Given the description of an element on the screen output the (x, y) to click on. 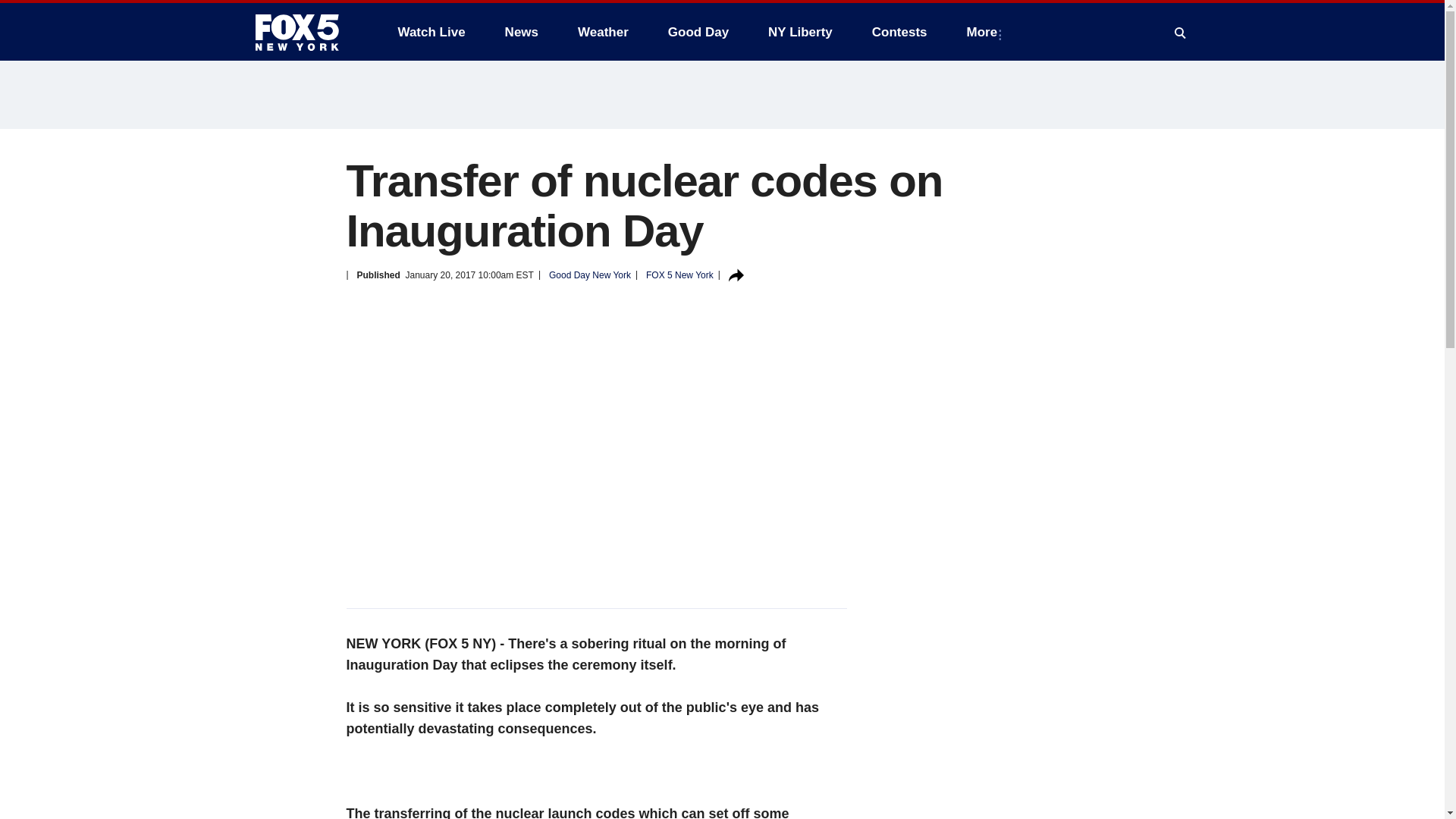
News (521, 32)
Weather (603, 32)
NY Liberty (799, 32)
Good Day (698, 32)
More (985, 32)
Watch Live (431, 32)
Contests (899, 32)
